Given the description of an element on the screen output the (x, y) to click on. 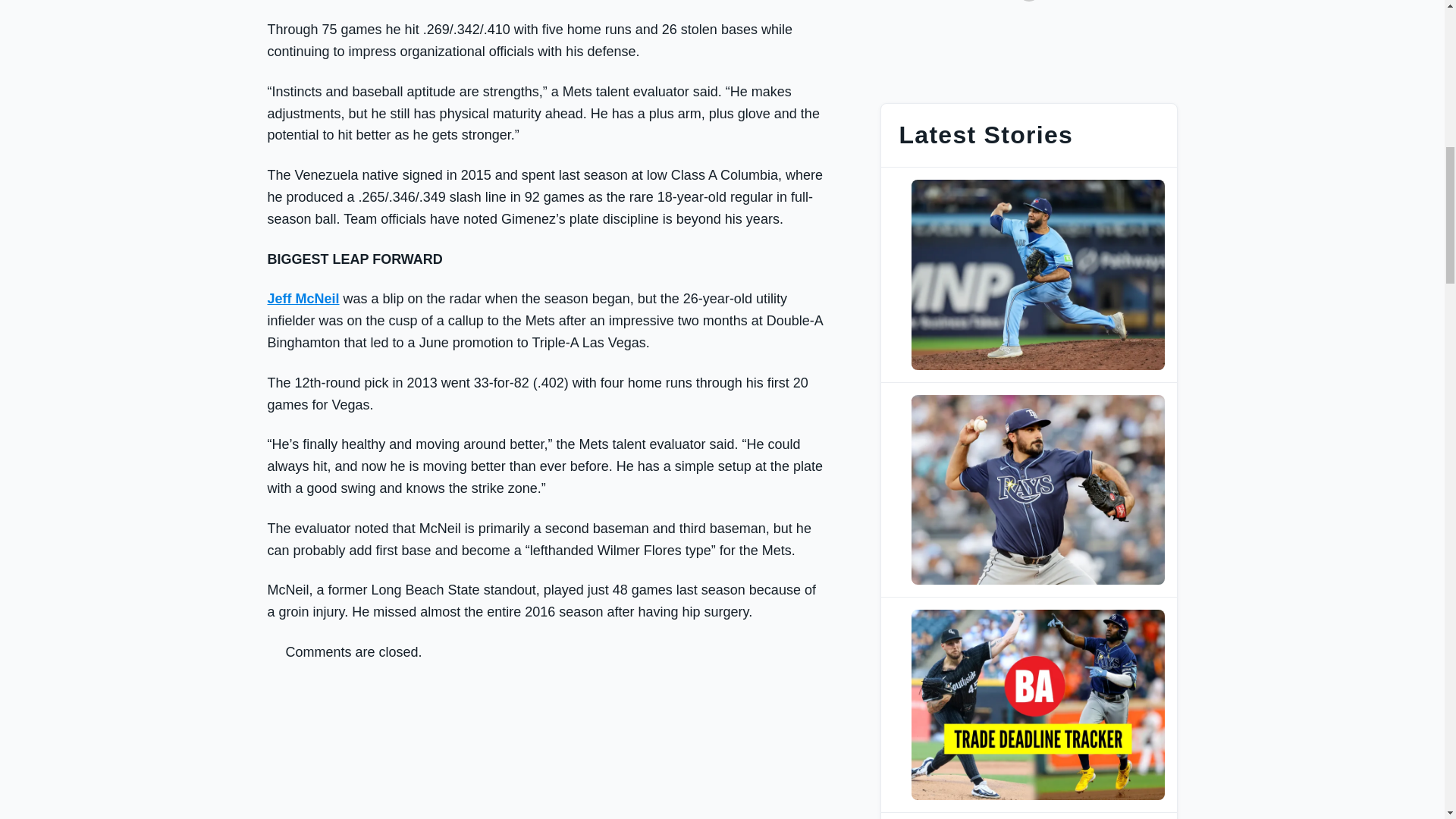
Post date (950, 704)
Post category (1037, 400)
Post category (1037, 614)
Post category (1037, 184)
Post date (950, 489)
Post date (950, 274)
